Given the description of an element on the screen output the (x, y) to click on. 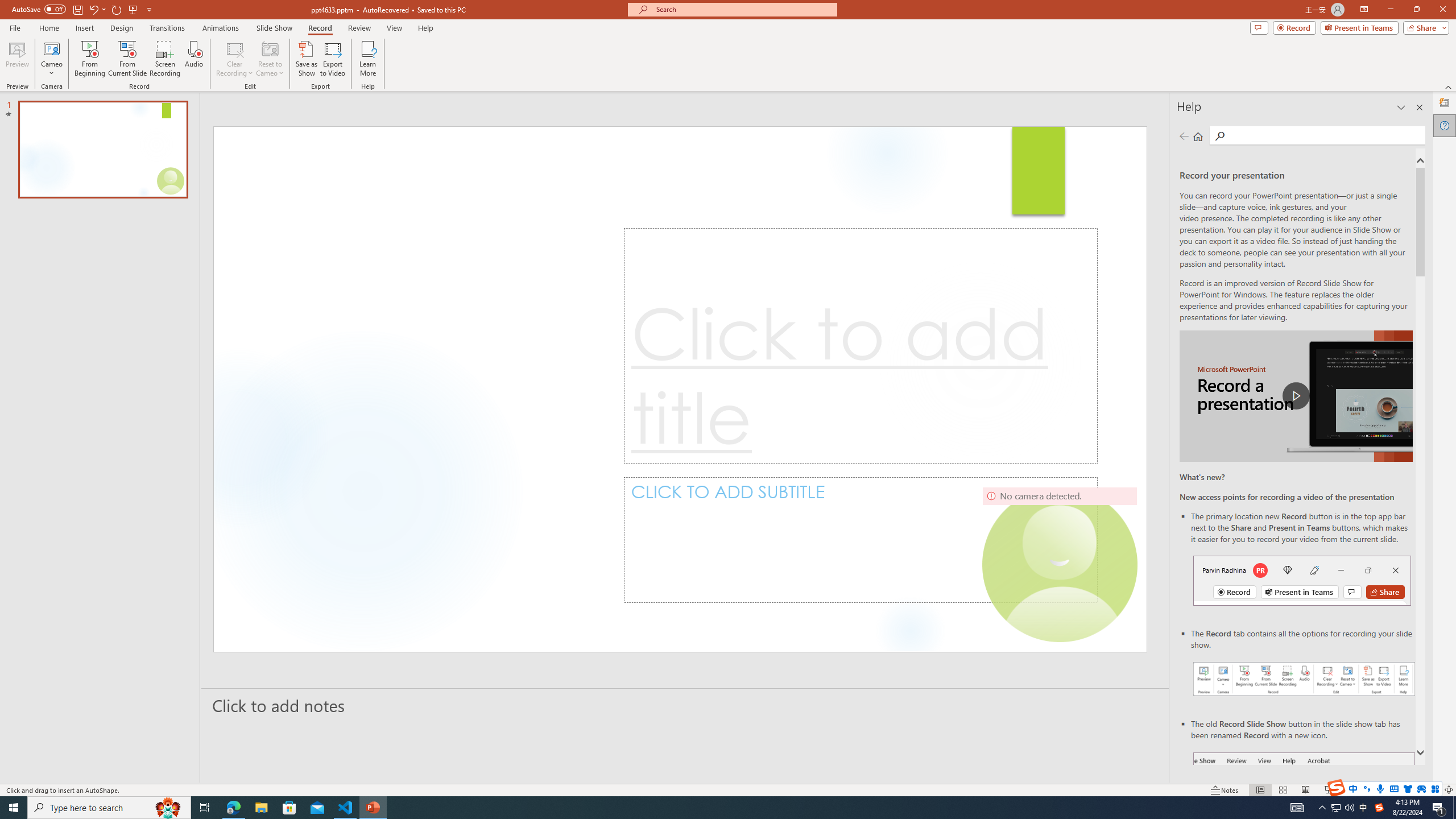
Record button in top bar (1301, 580)
Screen Recording (165, 58)
